Given the description of an element on the screen output the (x, y) to click on. 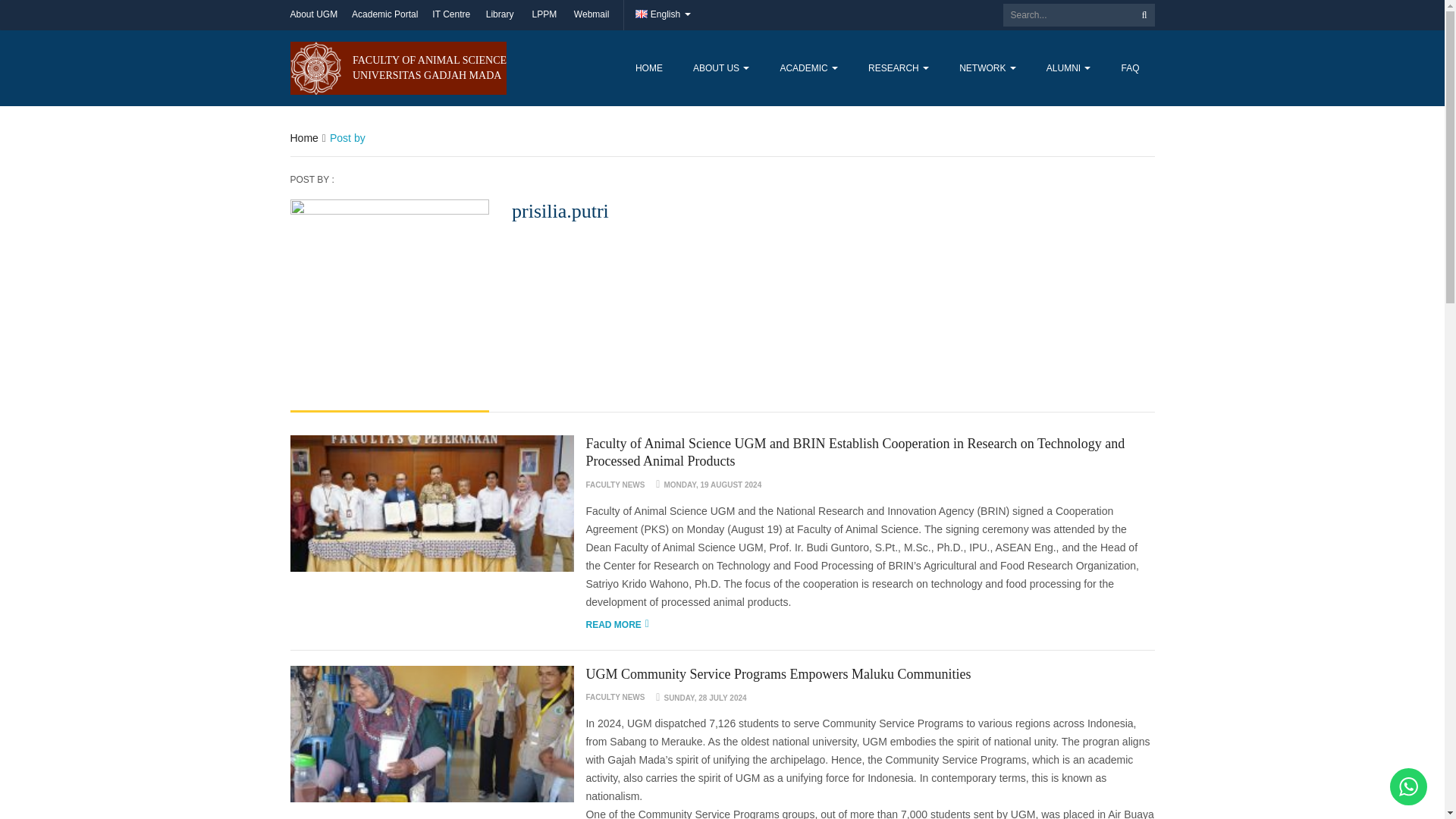
English (662, 15)
About UGM (313, 15)
Webmail (590, 15)
Library (397, 68)
ABOUT US (499, 15)
IT Centre (721, 68)
Academic Portal (451, 15)
IT Centre (384, 15)
LPPM (451, 15)
